Given the description of an element on the screen output the (x, y) to click on. 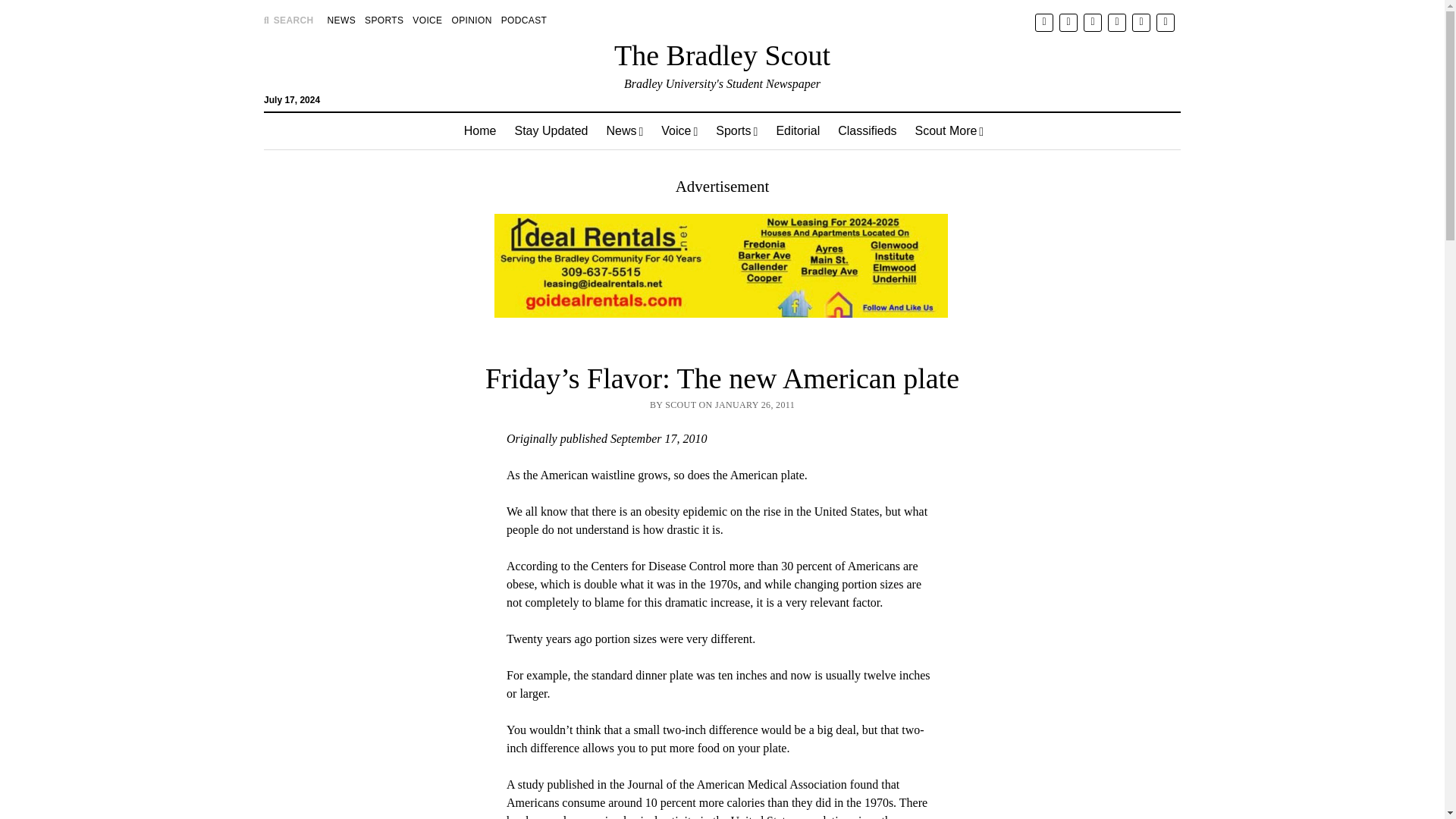
Home (479, 131)
VOICE (427, 20)
Sports (736, 131)
PODCAST (523, 20)
The Bradley Scout (721, 55)
NEWS (341, 20)
SEARCH (288, 20)
Editorial (797, 131)
SPORTS (384, 20)
Scout More (948, 131)
Search (945, 129)
Classifieds (866, 131)
News (624, 131)
Stay Updated (550, 131)
OPINION (471, 20)
